Given the description of an element on the screen output the (x, y) to click on. 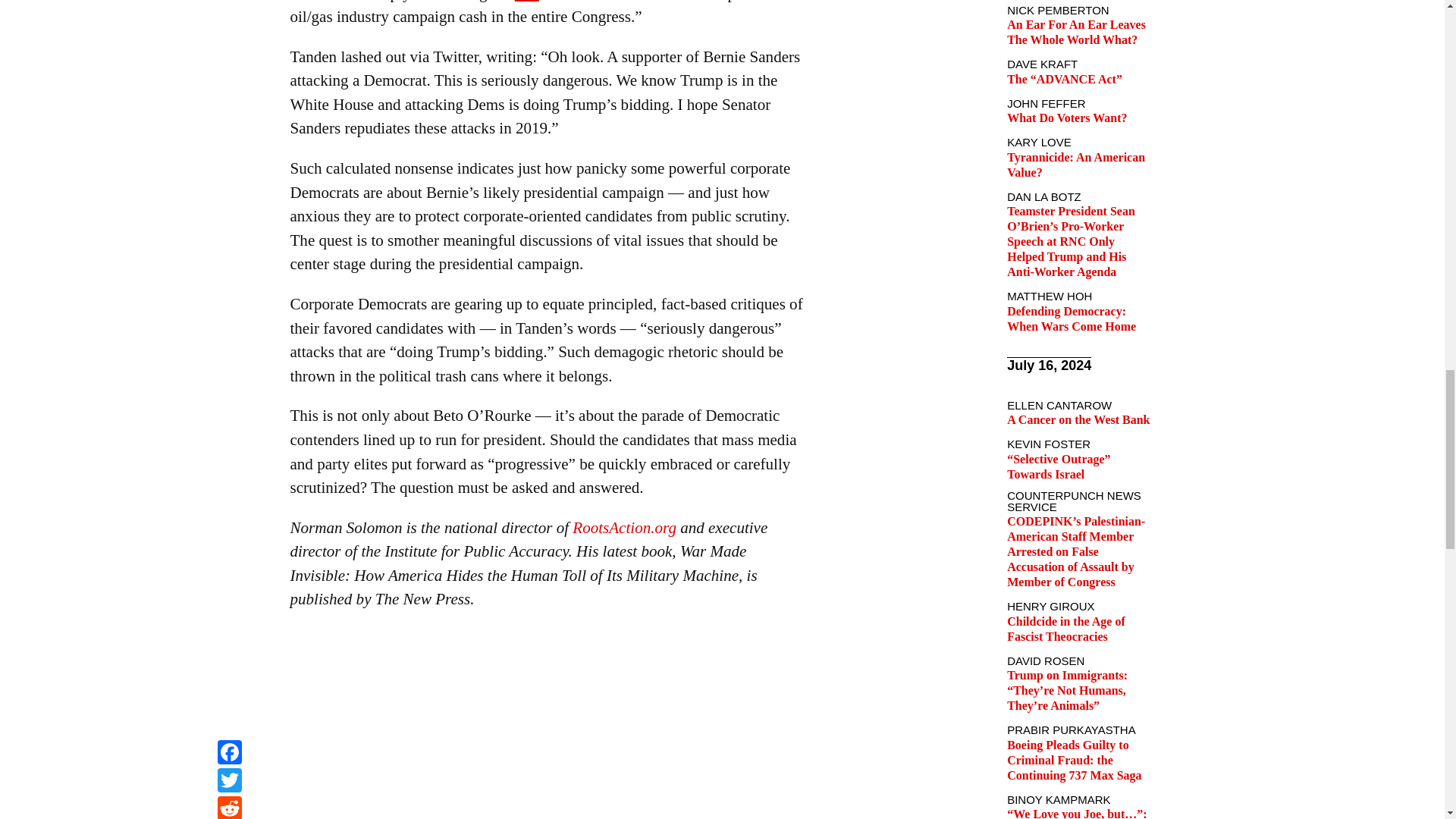
RootsAction.org (624, 527)
fact (526, 0)
